Given the description of an element on the screen output the (x, y) to click on. 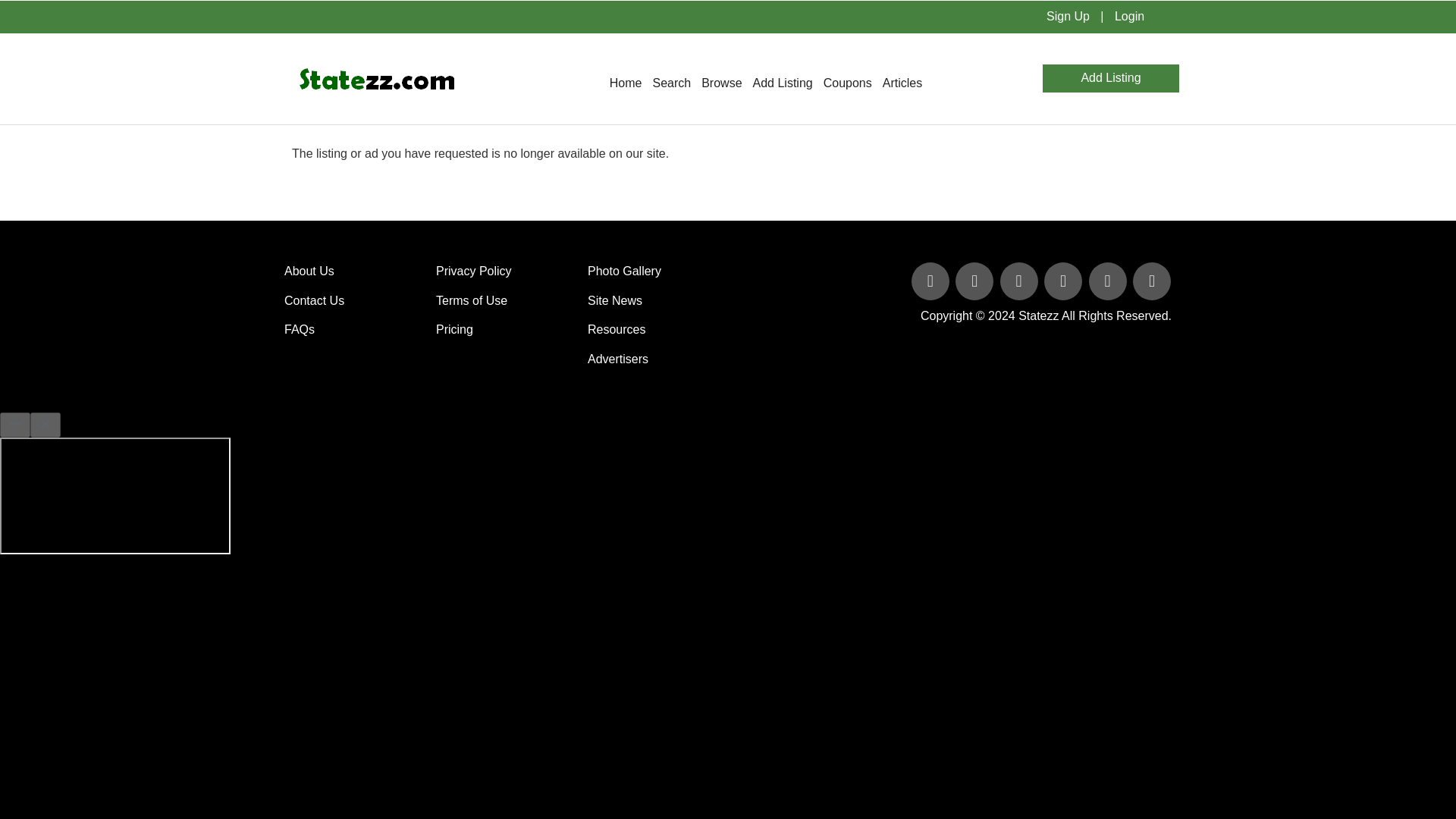
Resources (616, 328)
Articles (902, 83)
Privacy Policy (473, 270)
Login (1128, 15)
Sign Up (1068, 15)
Coupons (847, 83)
Site News (615, 300)
Search (670, 83)
Photo Gallery (624, 270)
Contact Us (313, 300)
